Given the description of an element on the screen output the (x, y) to click on. 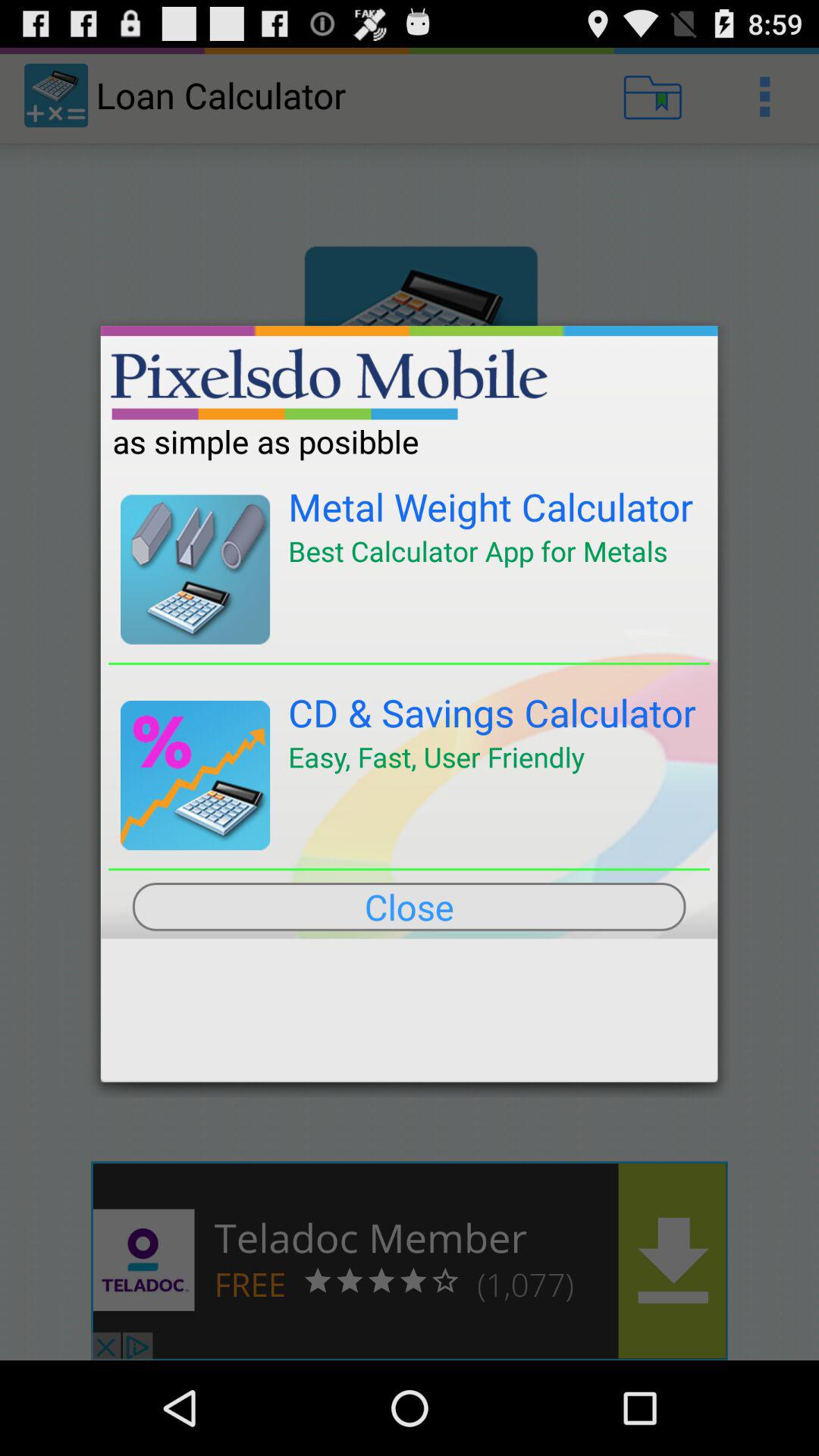
click icon below cd & savings calculator icon (436, 756)
